Given the description of an element on the screen output the (x, y) to click on. 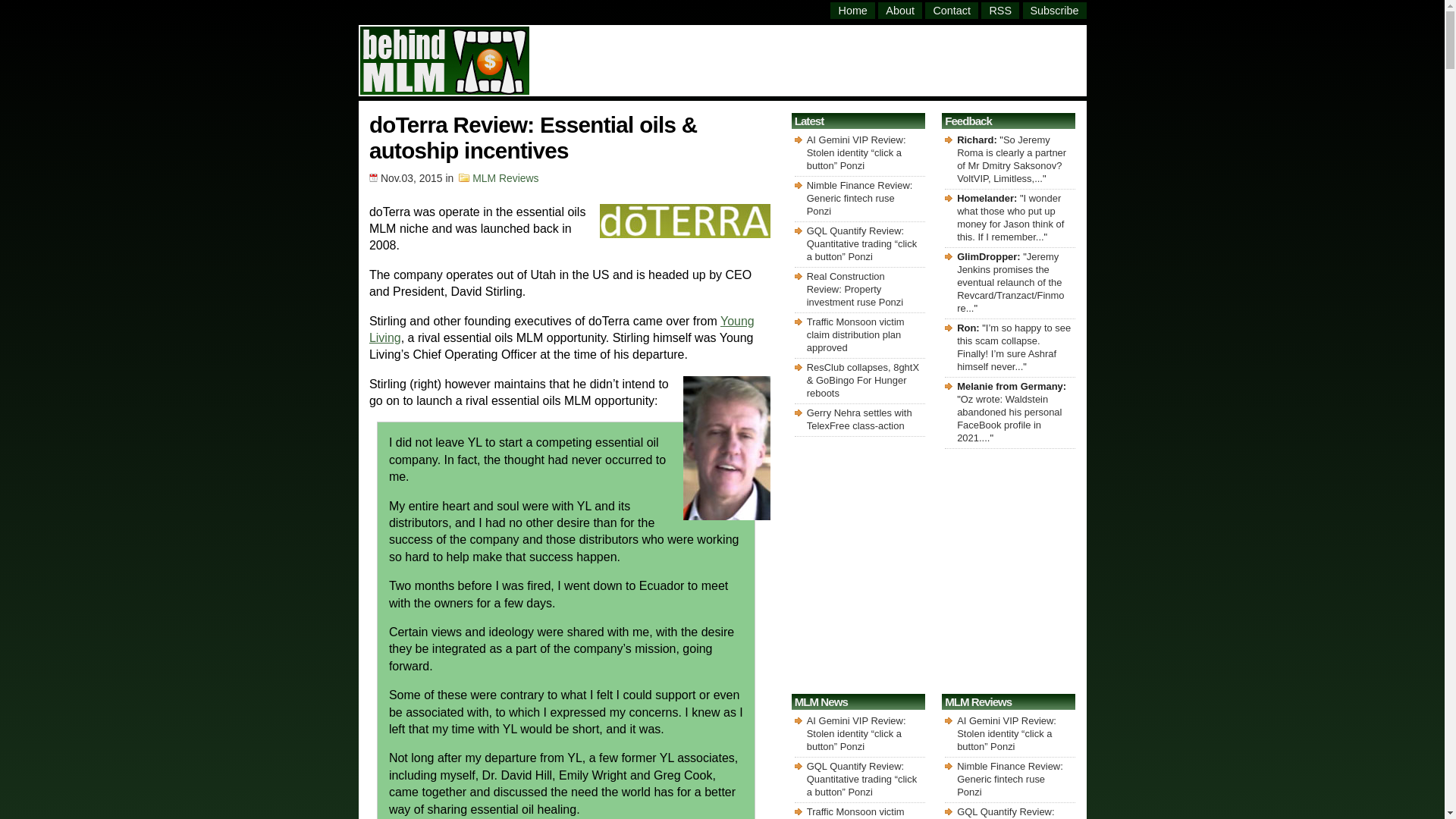
MLM Reviews (504, 177)
